Given the description of an element on the screen output the (x, y) to click on. 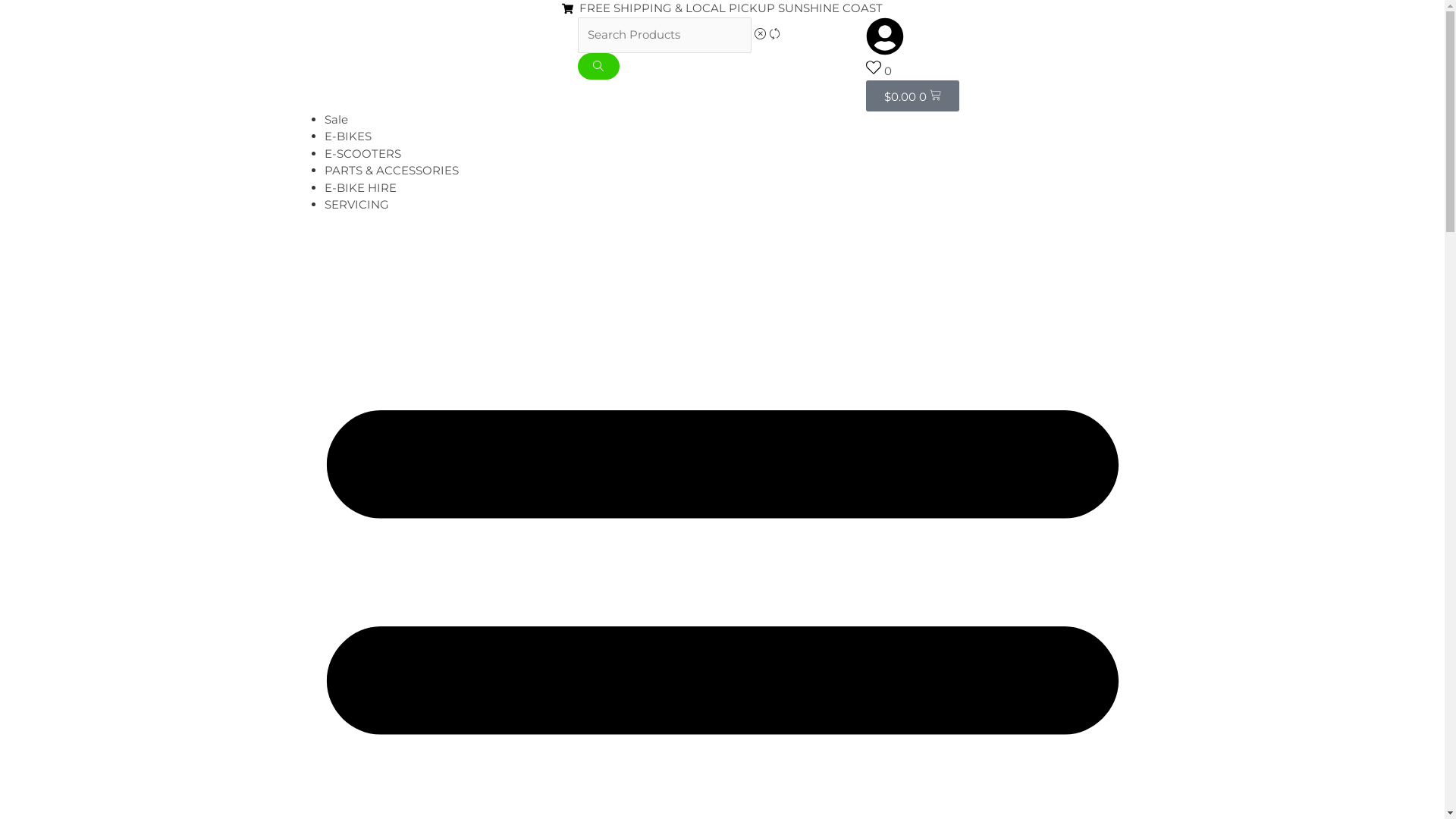
E-BIKE HIRE Element type: text (360, 187)
E-SCOOTERS Element type: text (362, 152)
$0.00 0
Cart Element type: text (912, 95)
0 Element type: text (878, 70)
PARTS & ACCESSORIES Element type: text (391, 170)
SERVICING Element type: text (356, 204)
Sale Element type: text (336, 119)
FREE SHIPPING & LOCAL PICKUP SUNSHINE COAST Element type: text (721, 8)
E-BIKES Element type: text (347, 135)
Search Element type: text (598, 66)
